Given the description of an element on the screen output the (x, y) to click on. 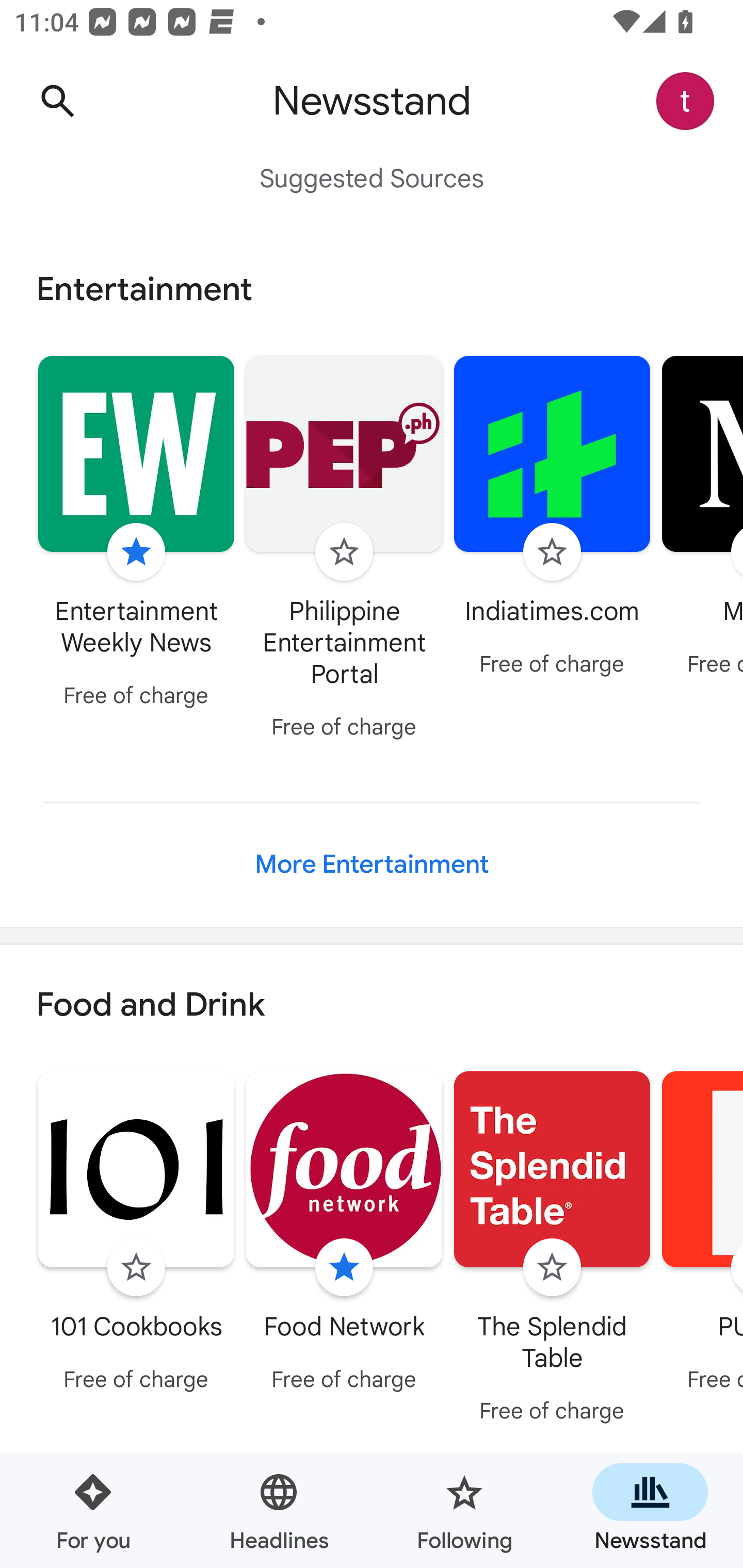
Search (57, 100)
Entertainment (371, 288)
Unfollow Entertainment Weekly News Free of charge (136, 534)
Follow Indiatimes.com Free of charge (552, 517)
Unfollow (135, 551)
Follow (343, 551)
Follow (552, 551)
More Entertainment (371, 864)
Food and Drink (371, 1005)
Follow 101 Cookbooks Free of charge (136, 1234)
Unfollow Food Network Free of charge (344, 1234)
Follow The Splendid Table Free of charge (552, 1250)
Follow (135, 1267)
Unfollow (343, 1267)
Follow (552, 1267)
For you (92, 1509)
Headlines (278, 1509)
Following (464, 1509)
Newsstand (650, 1509)
